Given the description of an element on the screen output the (x, y) to click on. 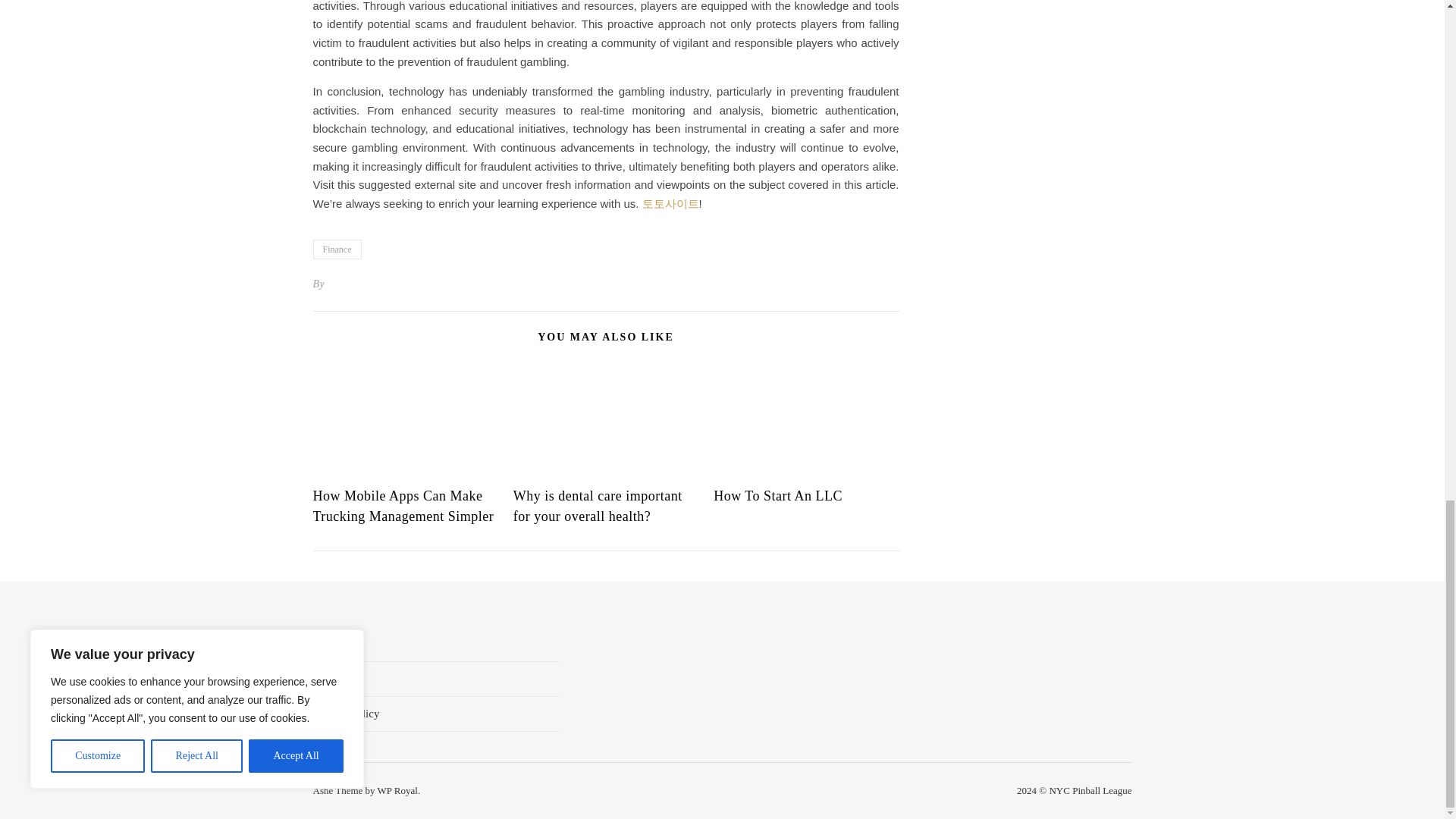
Why is dental care important for your overall health? (597, 506)
How Mobile Apps Can Make Trucking Management Simpler (403, 506)
Finance (337, 249)
